Given the description of an element on the screen output the (x, y) to click on. 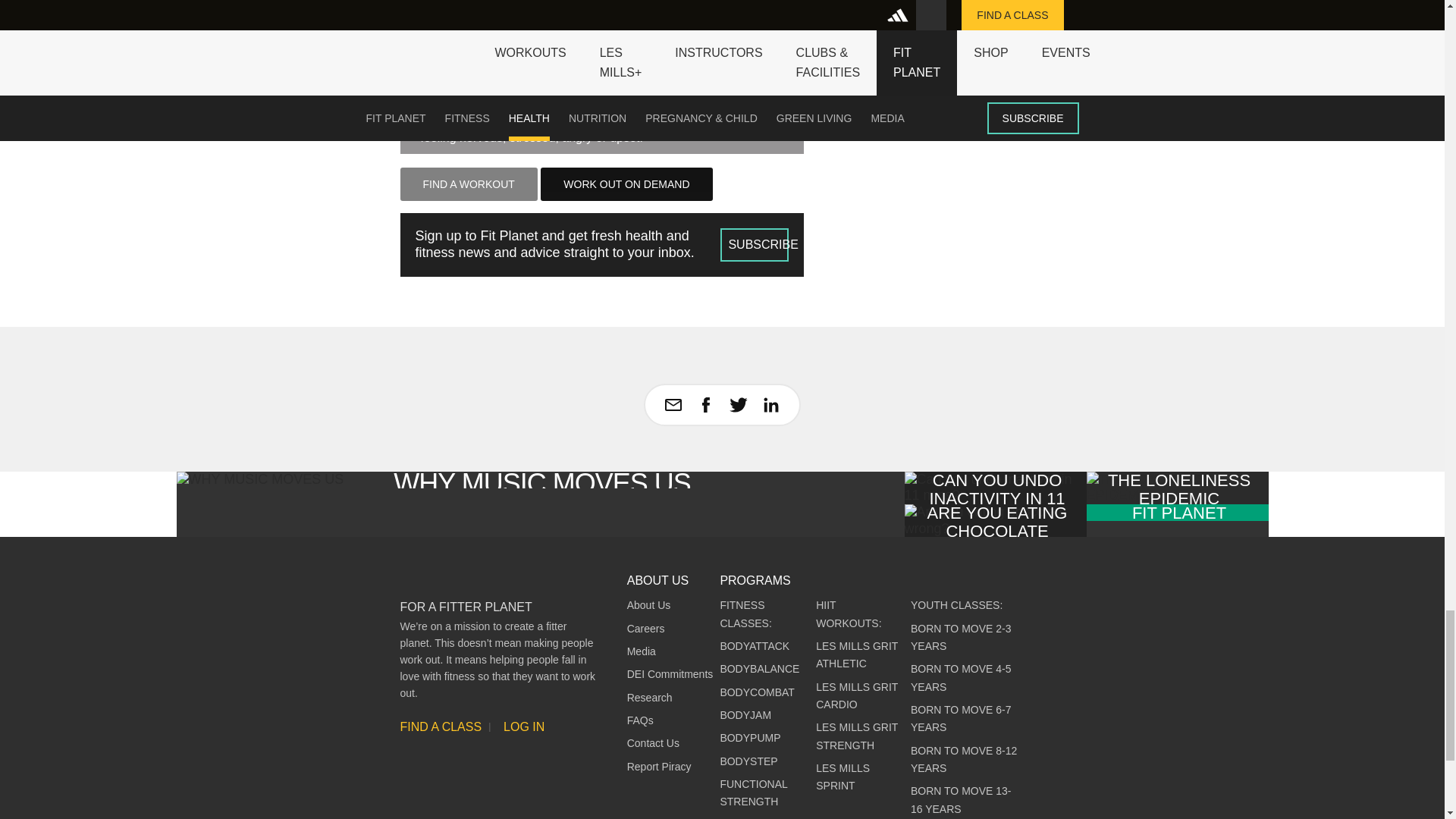
OnDemand (625, 183)
